Given the description of an element on the screen output the (x, y) to click on. 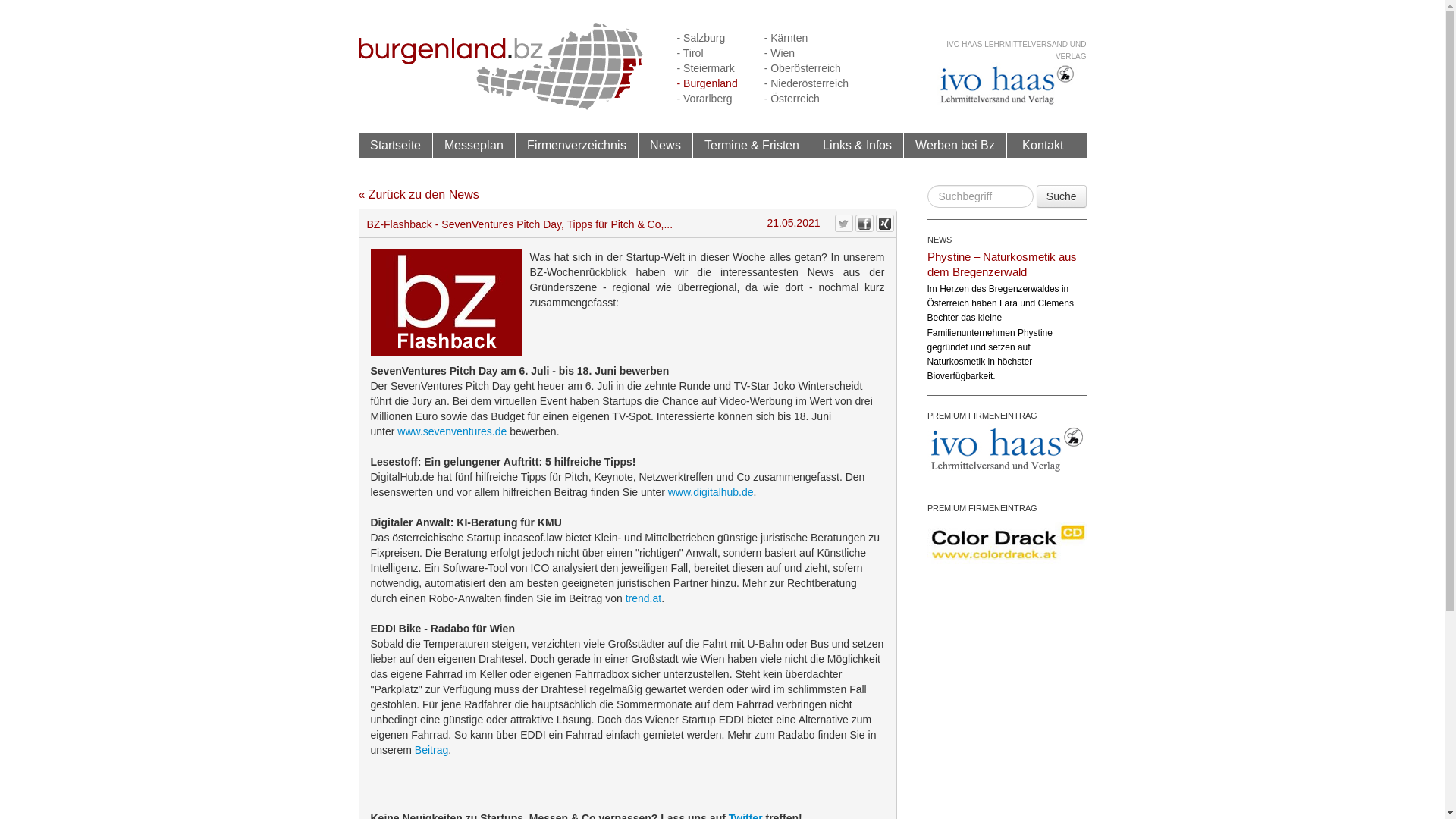
NEWS Element type: text (938, 239)
PREMIUM FIRMENEINTRAG Element type: text (981, 507)
Links & Infos Element type: text (856, 144)
News Element type: text (665, 144)
Termine & Fristen Element type: text (752, 144)
- Wien Element type: text (779, 53)
Ivo Haas Lehrmittelversand und Verlag Element type: hover (1005, 84)
www.sevenventures.de Element type: text (451, 431)
Messeplan Element type: text (473, 144)
Kontakt Element type: text (1042, 144)
Teilen Element type: hover (884, 223)
Werben bei Bz Element type: text (954, 144)
PREMIUM FIRMENEINTRAG Element type: text (981, 415)
- Burgenland Element type: text (706, 83)
News Element type: text (664, 144)
www.digitalhub.de Element type: text (710, 492)
Termine & Fristen Element type: text (750, 144)
BZ-Flashback - Die Startup News der Woche Element type: hover (445, 302)
Links & Infos Element type: text (857, 144)
Startseite Element type: text (394, 144)
Beitrag Element type: text (431, 749)
Werben bei Bz Element type: text (955, 144)
Firmenverzeichnis Element type: text (575, 144)
- Vorarlberg Element type: text (703, 98)
trend.at Element type: text (643, 598)
Zur Startseite von Burgenland.bz Element type: hover (499, 65)
Firmenverzeichnis Element type: text (576, 144)
Kontakt Element type: text (1042, 144)
IVO HAAS LEHRMITTELVERSAND UND VERLAG Element type: text (1015, 50)
- Salzburg Element type: text (700, 37)
Startseite Element type: text (395, 144)
- Steiermark Element type: text (705, 68)
Suche Element type: text (1061, 196)
Messeplan Element type: text (473, 144)
Twittern Element type: hover (843, 223)
- Tirol Element type: text (689, 53)
Teilen Element type: hover (864, 223)
